Given the description of an element on the screen output the (x, y) to click on. 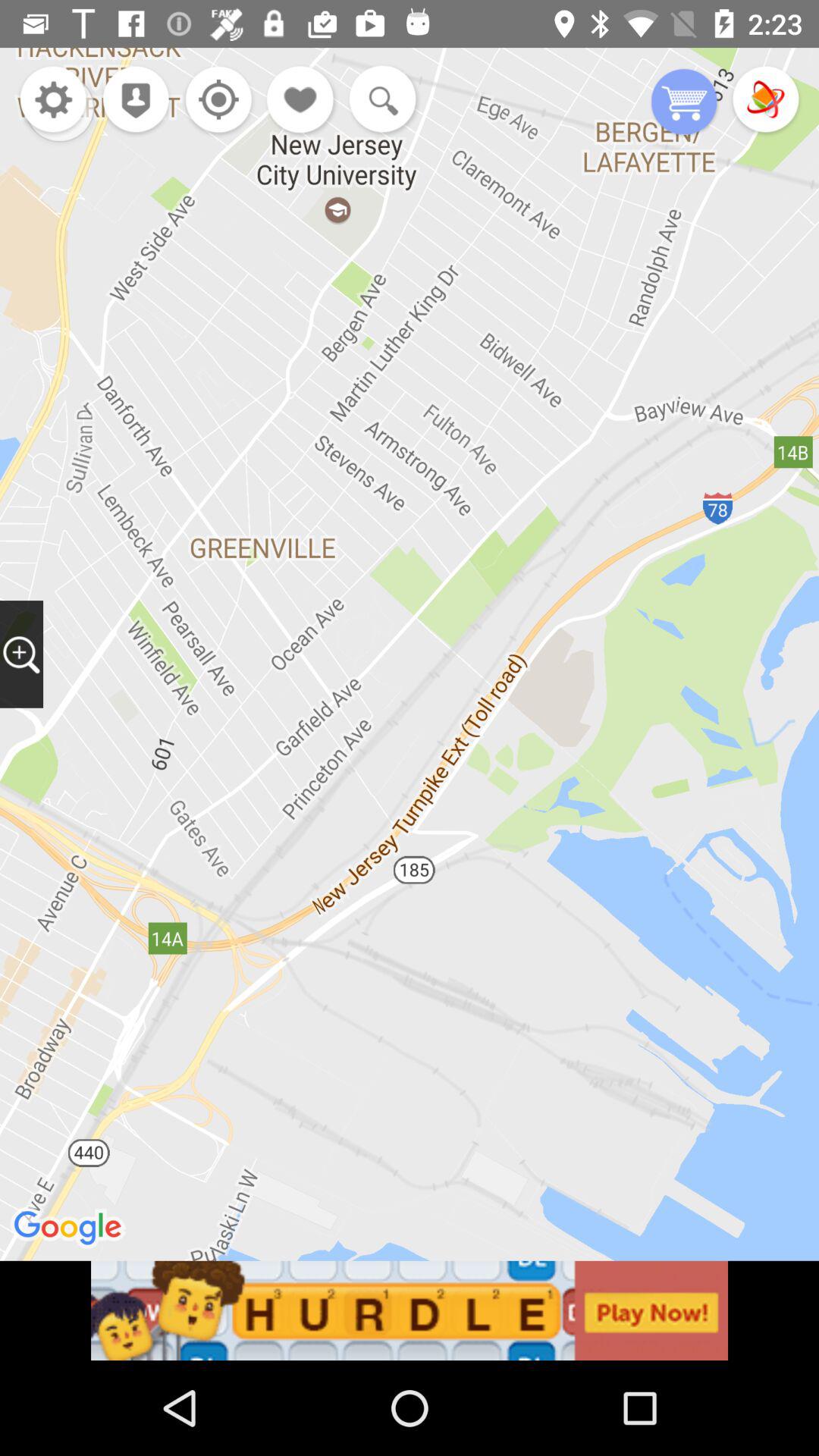
location (214, 101)
